Given the description of an element on the screen output the (x, y) to click on. 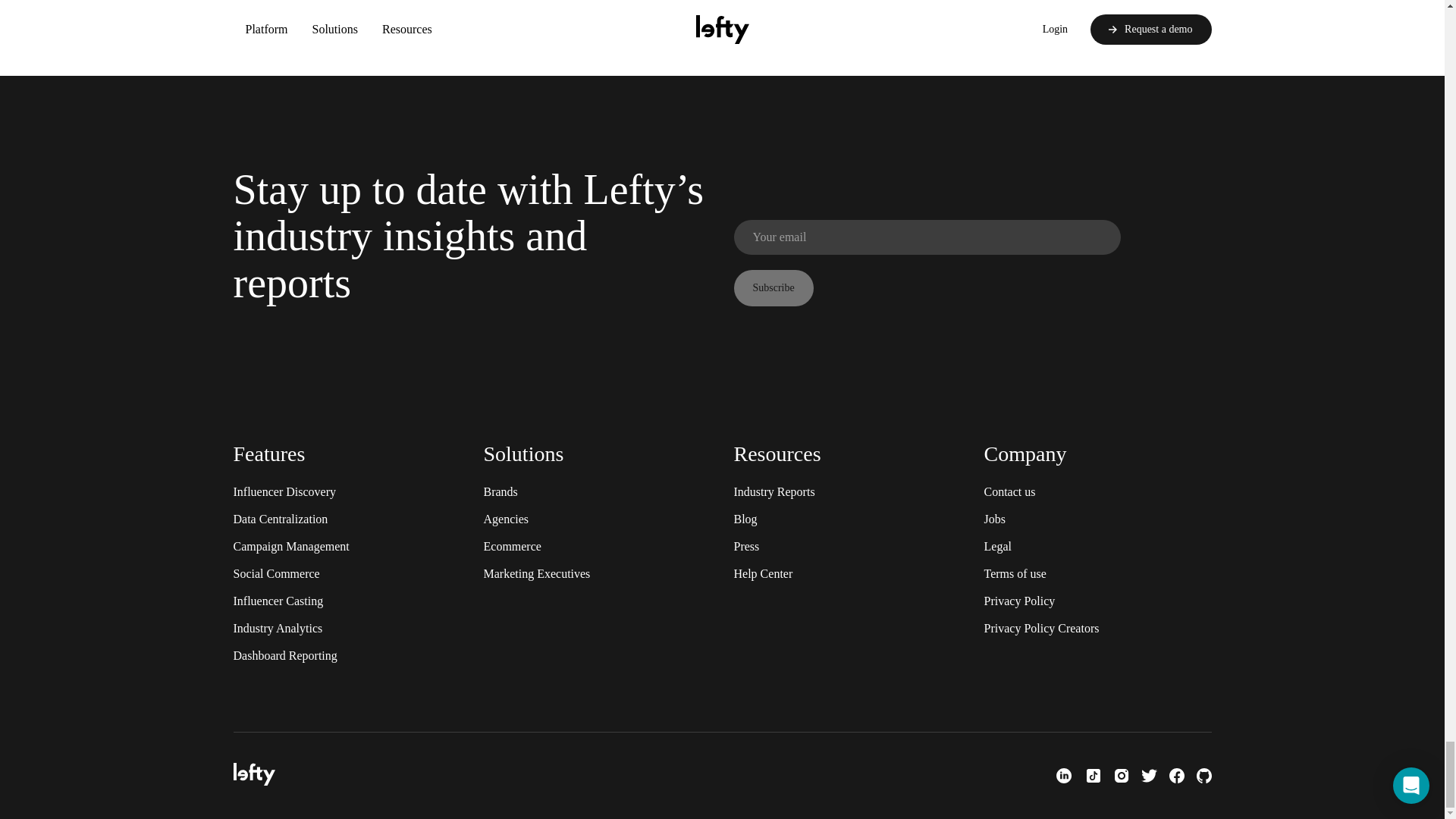
Dashboard Reporting (284, 655)
Help Center (763, 573)
Marketing Executives (537, 573)
Ecommerce (512, 546)
Jobs (995, 519)
Blog (745, 519)
Terms of use (1015, 573)
Press (746, 546)
Privacy Policy Creators (1041, 628)
Privacy Policy (1019, 601)
